Given the description of an element on the screen output the (x, y) to click on. 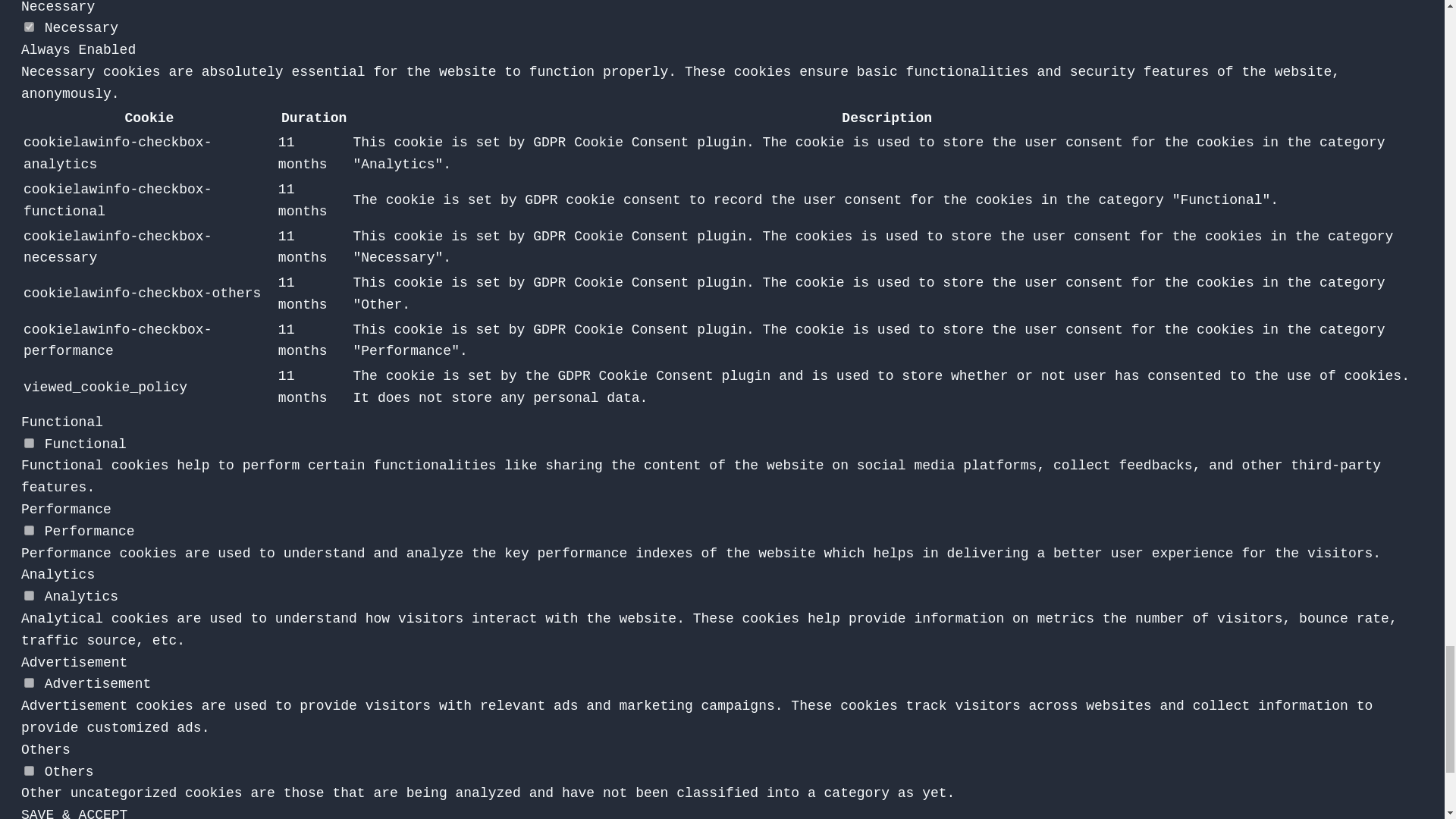
on (28, 682)
on (28, 595)
on (28, 26)
Functional (62, 421)
Necessary (57, 7)
on (28, 530)
on (28, 770)
on (28, 442)
